Given the description of an element on the screen output the (x, y) to click on. 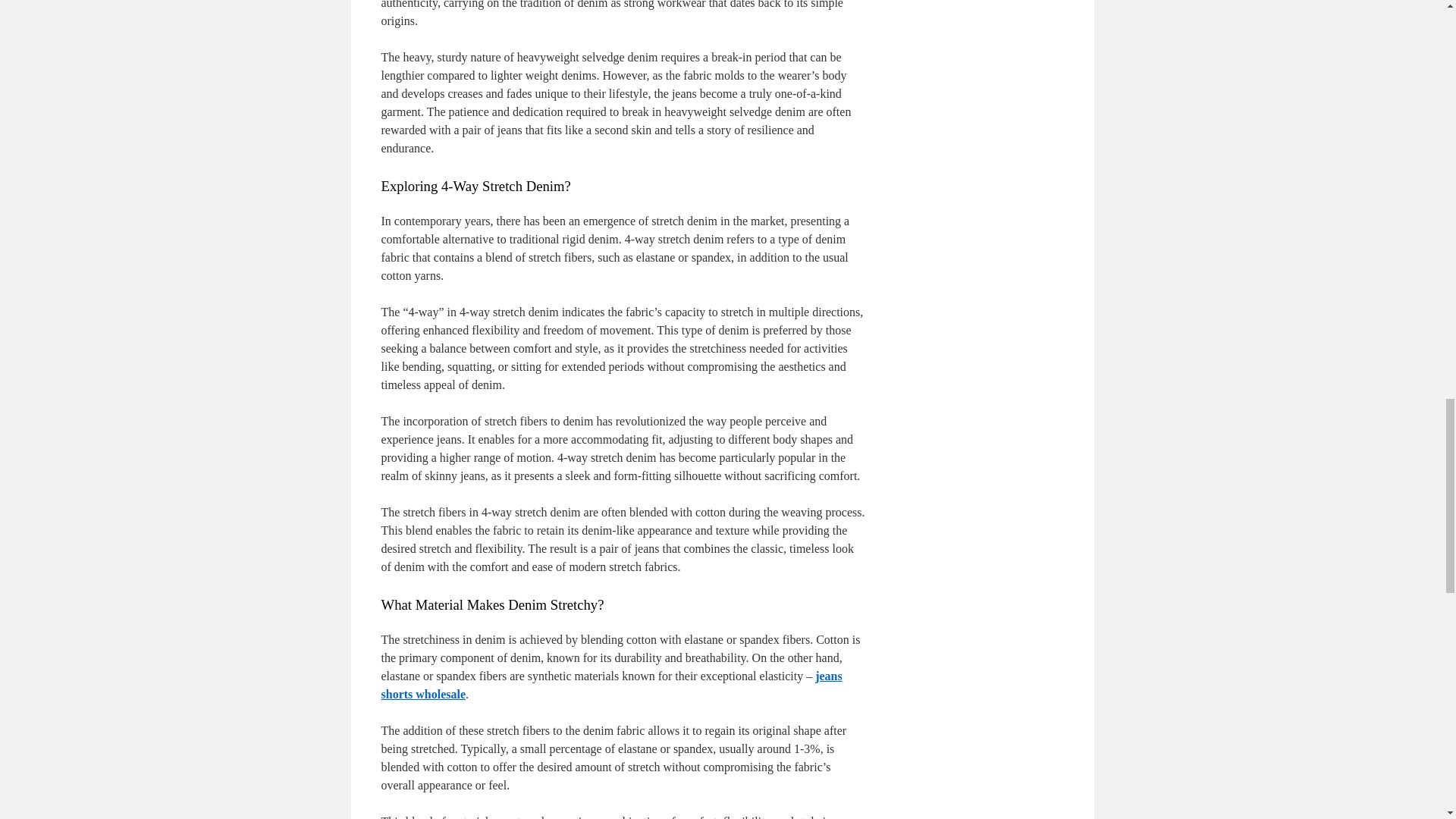
jeans shorts wholesale (610, 685)
